Given the description of an element on the screen output the (x, y) to click on. 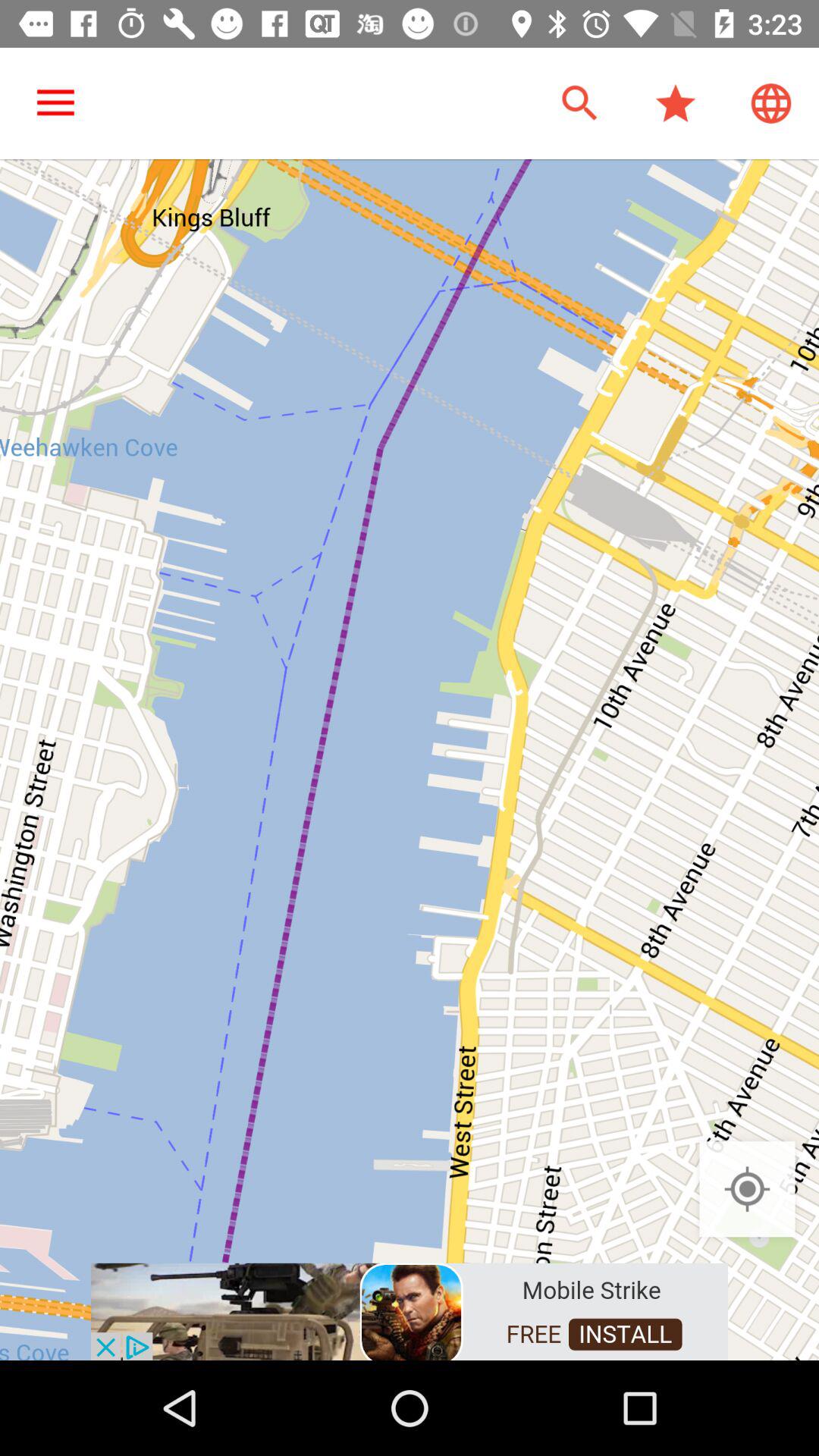
open icon at the bottom right corner (747, 1188)
